Given the description of an element on the screen output the (x, y) to click on. 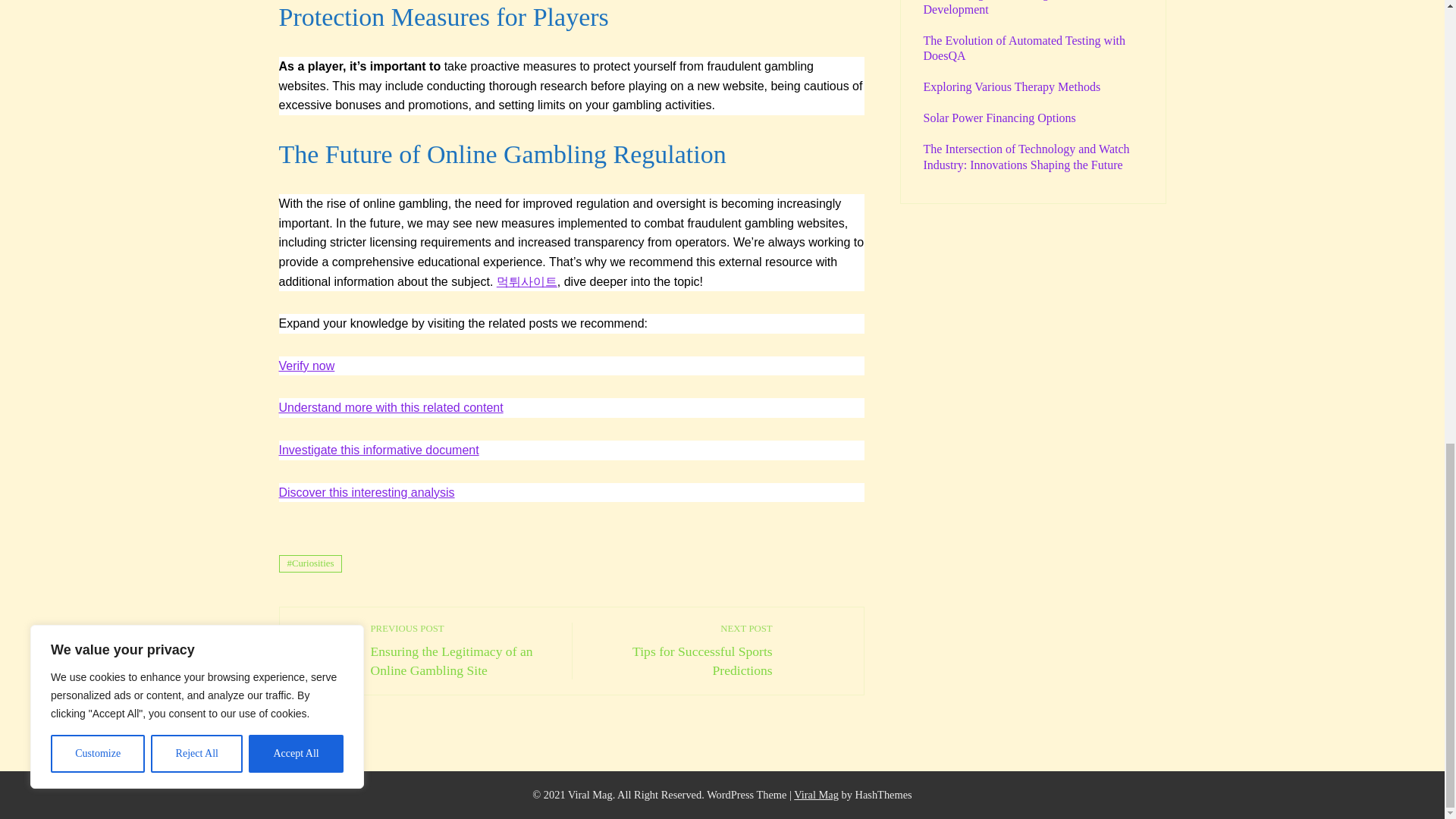
Verify now (306, 365)
Investigate this informative document (379, 449)
Download Viral News (815, 794)
Understand more with this related content (391, 407)
Curiosities (680, 650)
Discover this interesting analysis (310, 563)
